Given the description of an element on the screen output the (x, y) to click on. 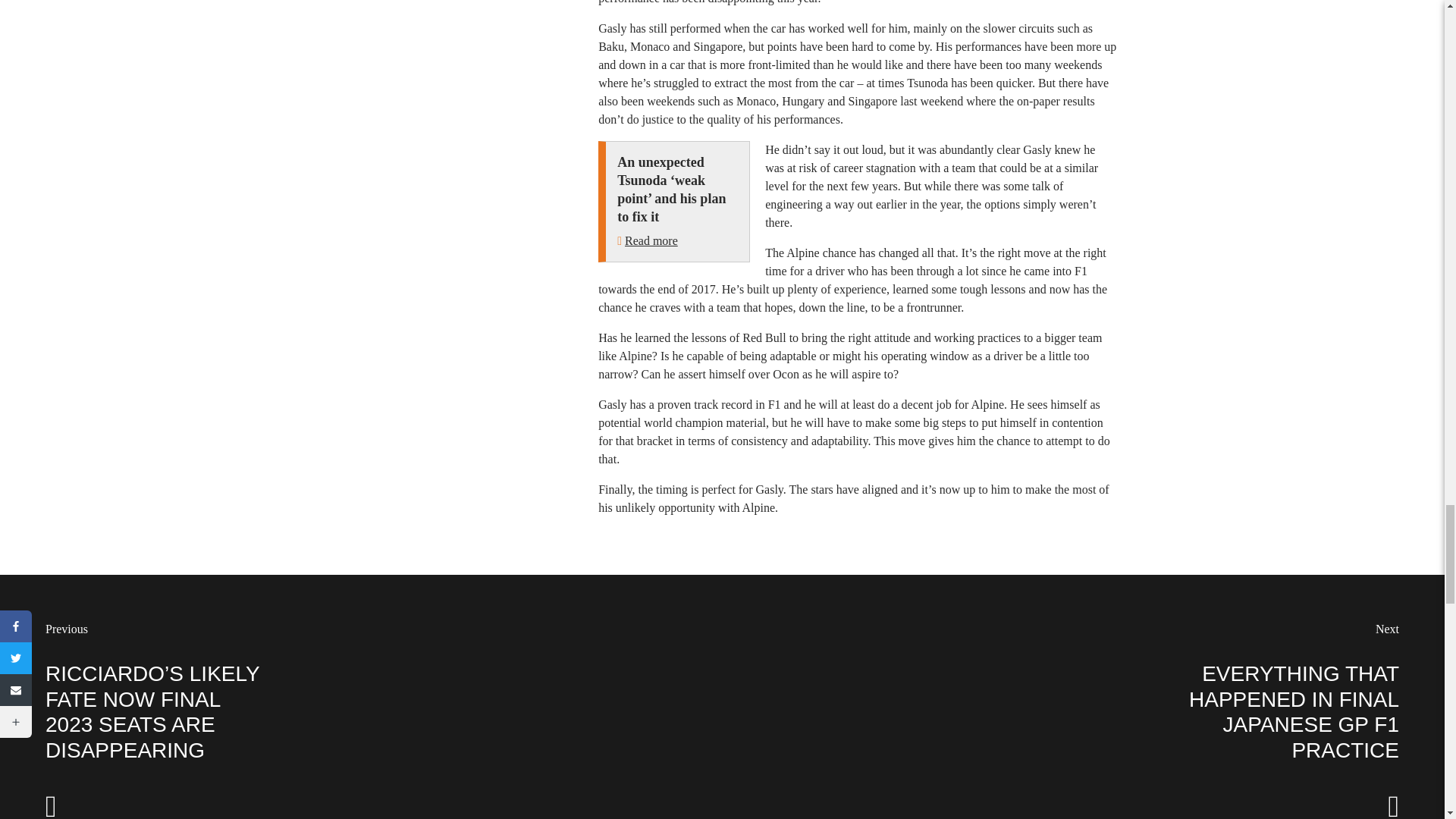
EVERYTHING THAT HAPPENED IN FINAL JAPANESE GP F1 PRACTICE (1294, 711)
Previous (66, 628)
Read more (651, 240)
Next (1387, 628)
